Given the description of an element on the screen output the (x, y) to click on. 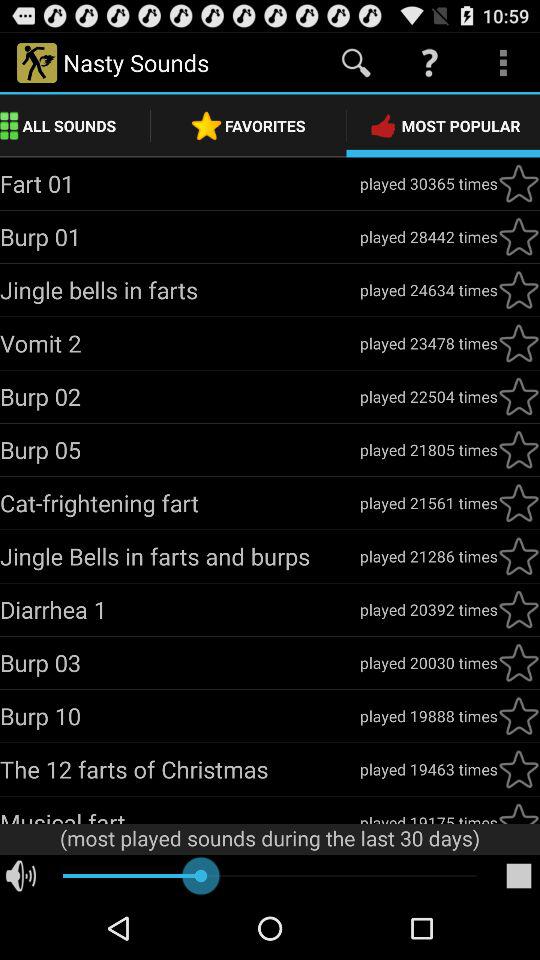
scroll to played 20392 times (428, 609)
